Given the description of an element on the screen output the (x, y) to click on. 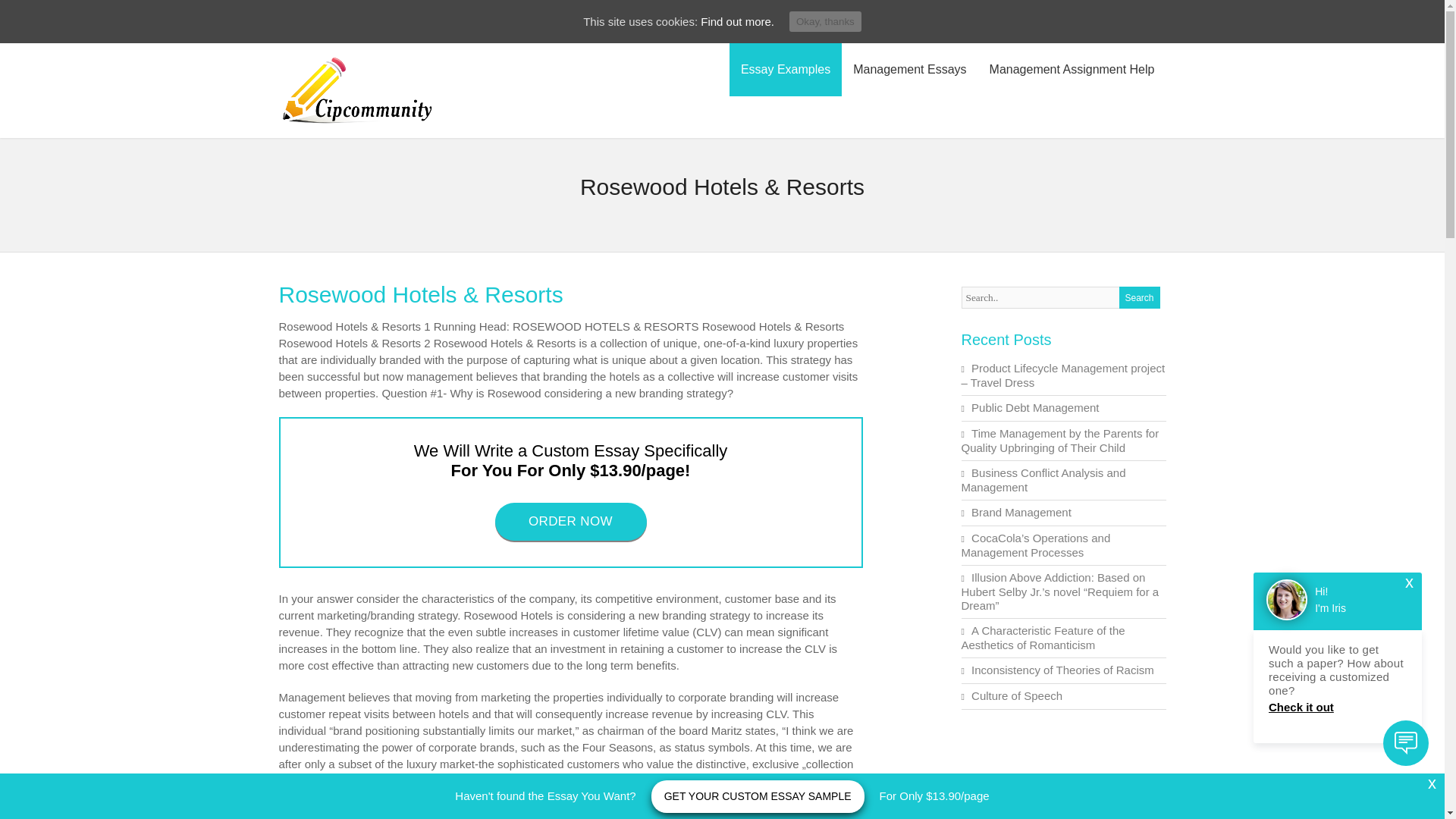
Cipcommunity (357, 124)
Find out more. (737, 21)
Brand Management (1021, 512)
Check it out (1337, 706)
Culture of Speech (1016, 695)
A Characteristic Feature of the Aesthetics of Romanticism (1042, 637)
Okay, thanks (825, 21)
ORDER NOW (570, 520)
GET YOUR CUSTOM ESSAY SAMPLE (757, 795)
Inconsistency of Theories of Racism (1062, 669)
Management Assignment Help (1072, 69)
Business Conflict Analysis and Management (1042, 479)
Public Debt Management (1035, 407)
Essay Examples (785, 69)
